Given the description of an element on the screen output the (x, y) to click on. 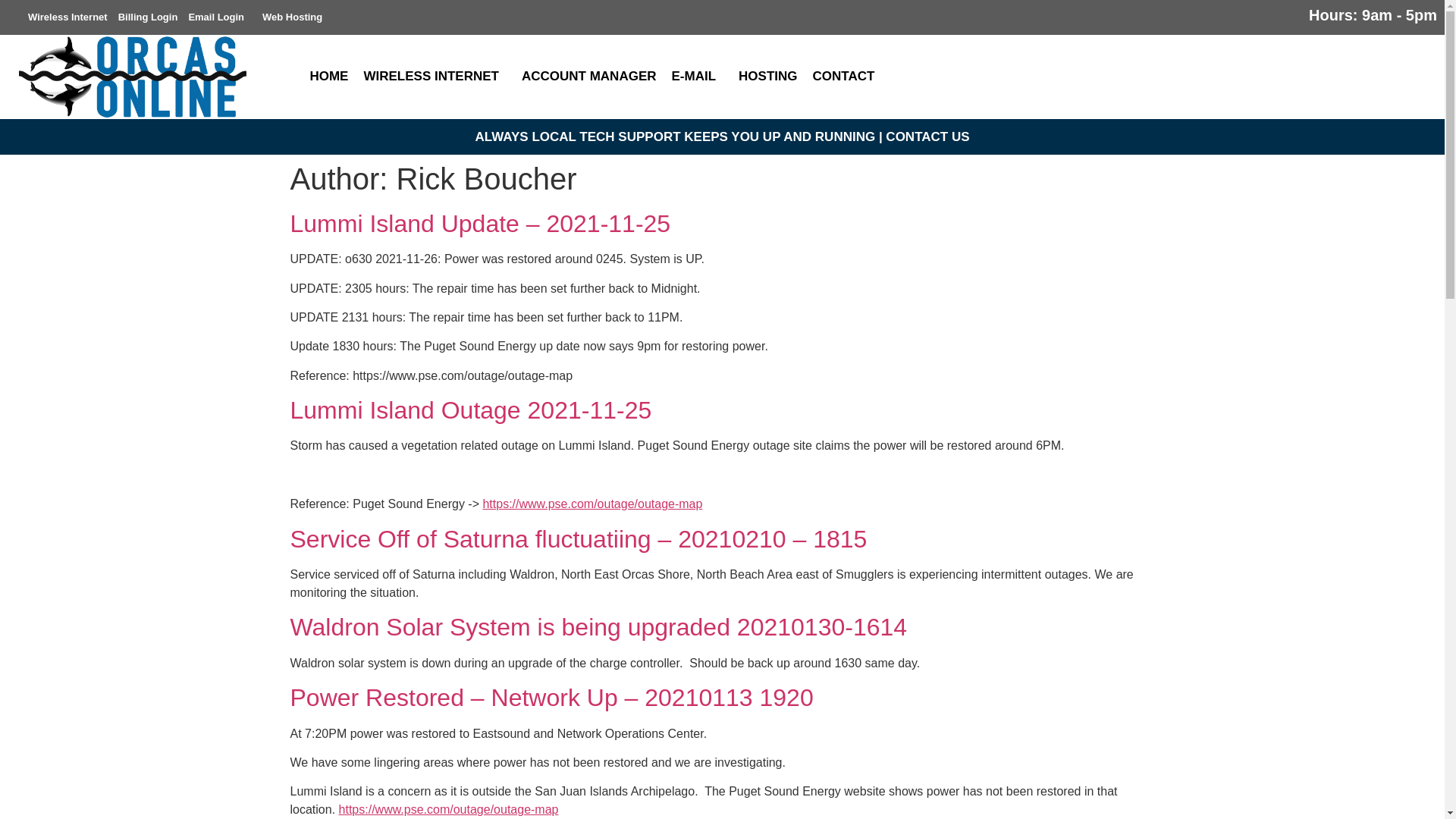
Wireless Internet (68, 17)
Billing Login (148, 17)
HOSTING (767, 76)
CONTACT (847, 76)
E-MAIL (697, 76)
Email Login (220, 17)
Hours: 9am - 5pm (1372, 14)
ACCOUNT MANAGER (588, 76)
HOME (328, 76)
Web Hosting (292, 17)
WIRELESS INTERNET (434, 76)
